Given the description of an element on the screen output the (x, y) to click on. 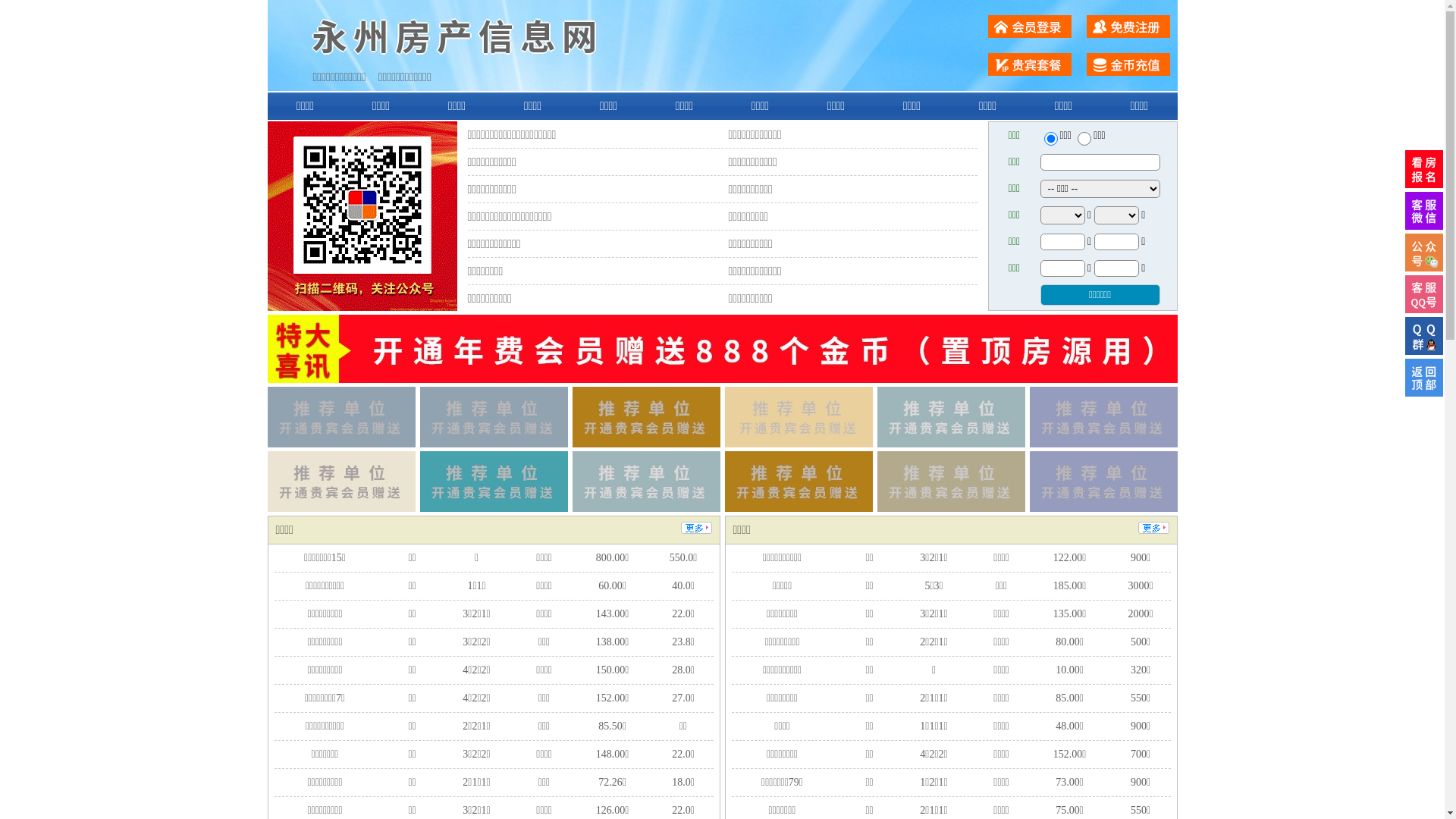
chuzu Element type: text (1084, 138)
ershou Element type: text (1050, 138)
